Given the description of an element on the screen output the (x, y) to click on. 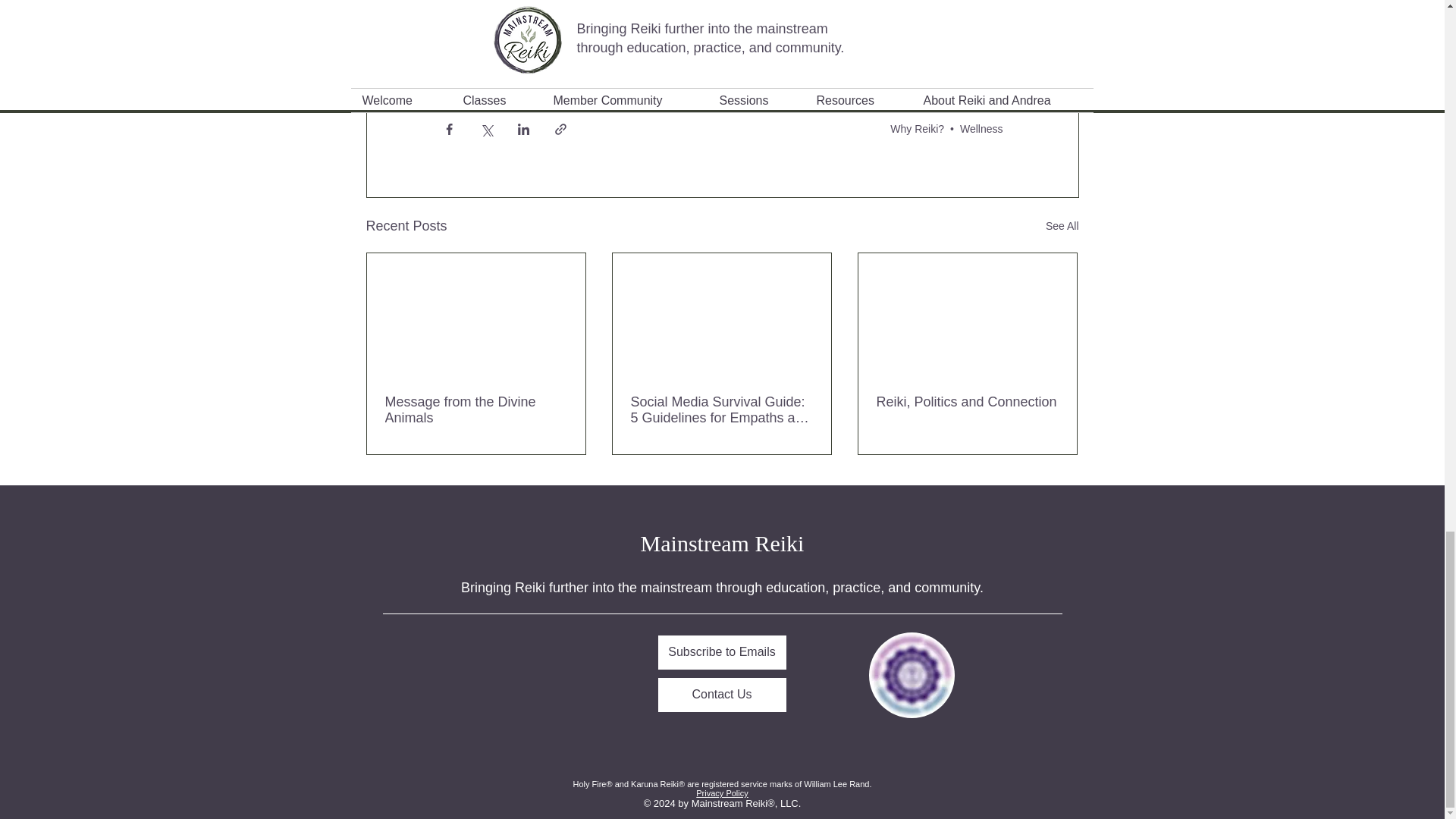
Why Reiki? (916, 128)
